Given the description of an element on the screen output the (x, y) to click on. 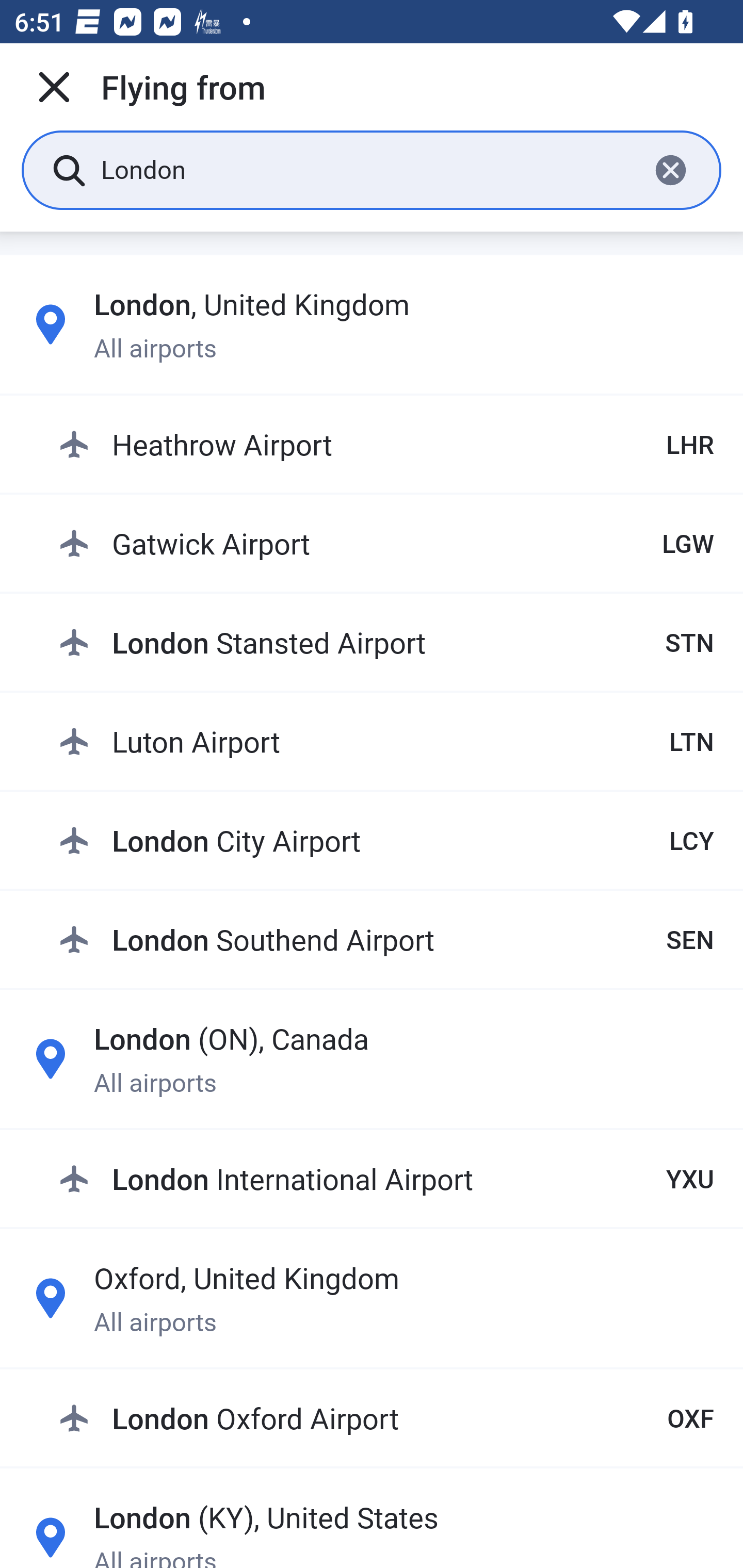
London (367, 169)
London, United Kingdom All airports (371, 324)
Heathrow Airport LHR (385, 444)
Gatwick Airport LGW (385, 543)
London Stansted Airport STN (385, 641)
Luton Airport LTN (385, 740)
London City Airport LCY (385, 839)
London Southend Airport SEN (385, 939)
London (ON), Canada All airports (371, 1059)
London International Airport YXU (385, 1178)
Oxford, United Kingdom All airports (371, 1298)
London Oxford Airport OXF (385, 1418)
London (KY), United States All airports (371, 1531)
